Given the description of an element on the screen output the (x, y) to click on. 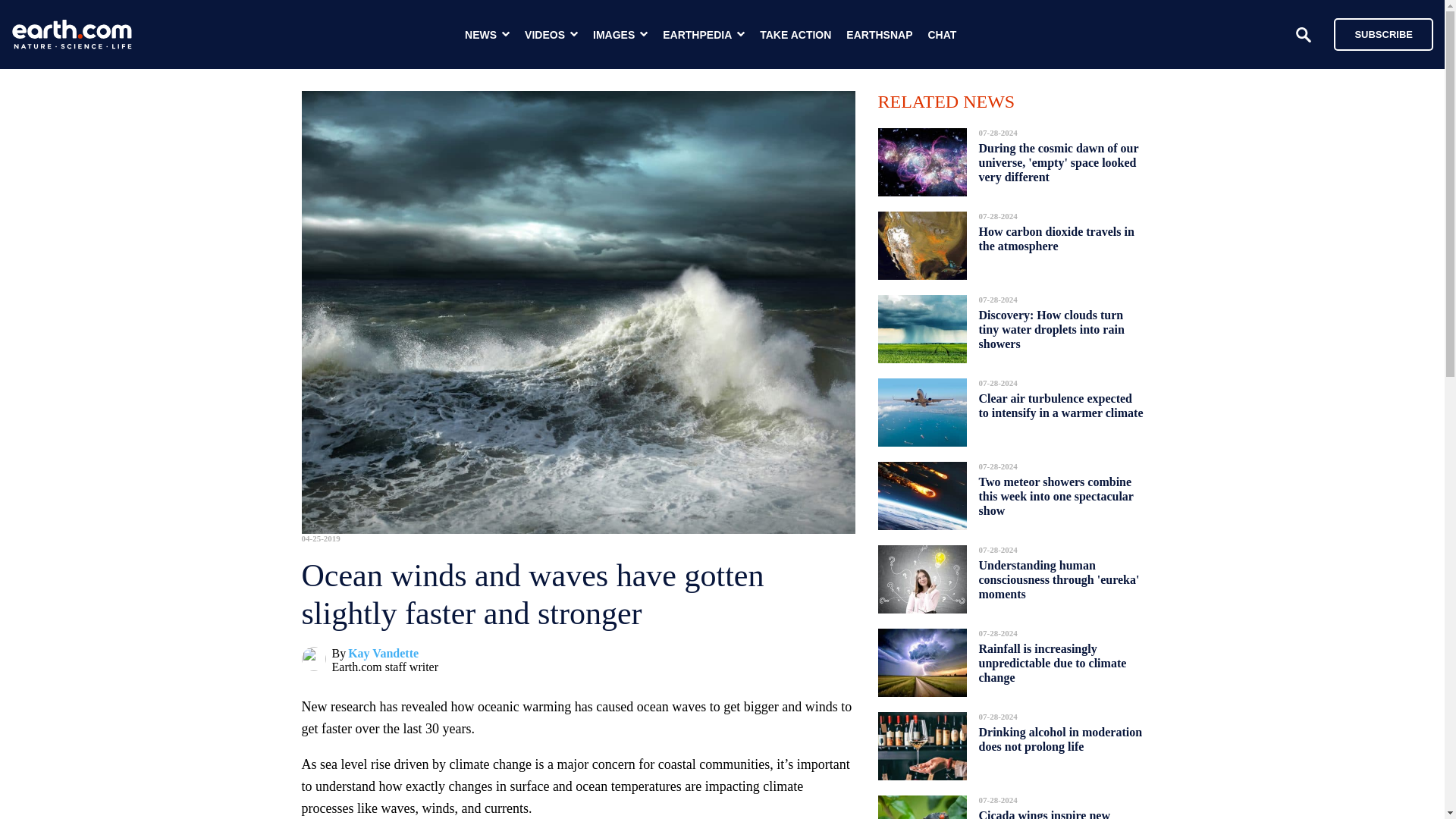
CHAT (941, 34)
SUBSCRIBE (1382, 34)
Rainfall is increasingly unpredictable due to climate change (1051, 662)
How carbon dioxide travels in the atmosphere (1056, 238)
Kay Vandette (383, 653)
SUBSCRIBE (1375, 33)
Understanding human consciousness through 'eureka' moments (1058, 579)
EARTHSNAP (878, 34)
Drinking alcohol in moderation does not prolong life (1059, 739)
TAKE ACTION (795, 34)
Cicada wings inspire new antibacterial technologies (1044, 810)
